Given the description of an element on the screen output the (x, y) to click on. 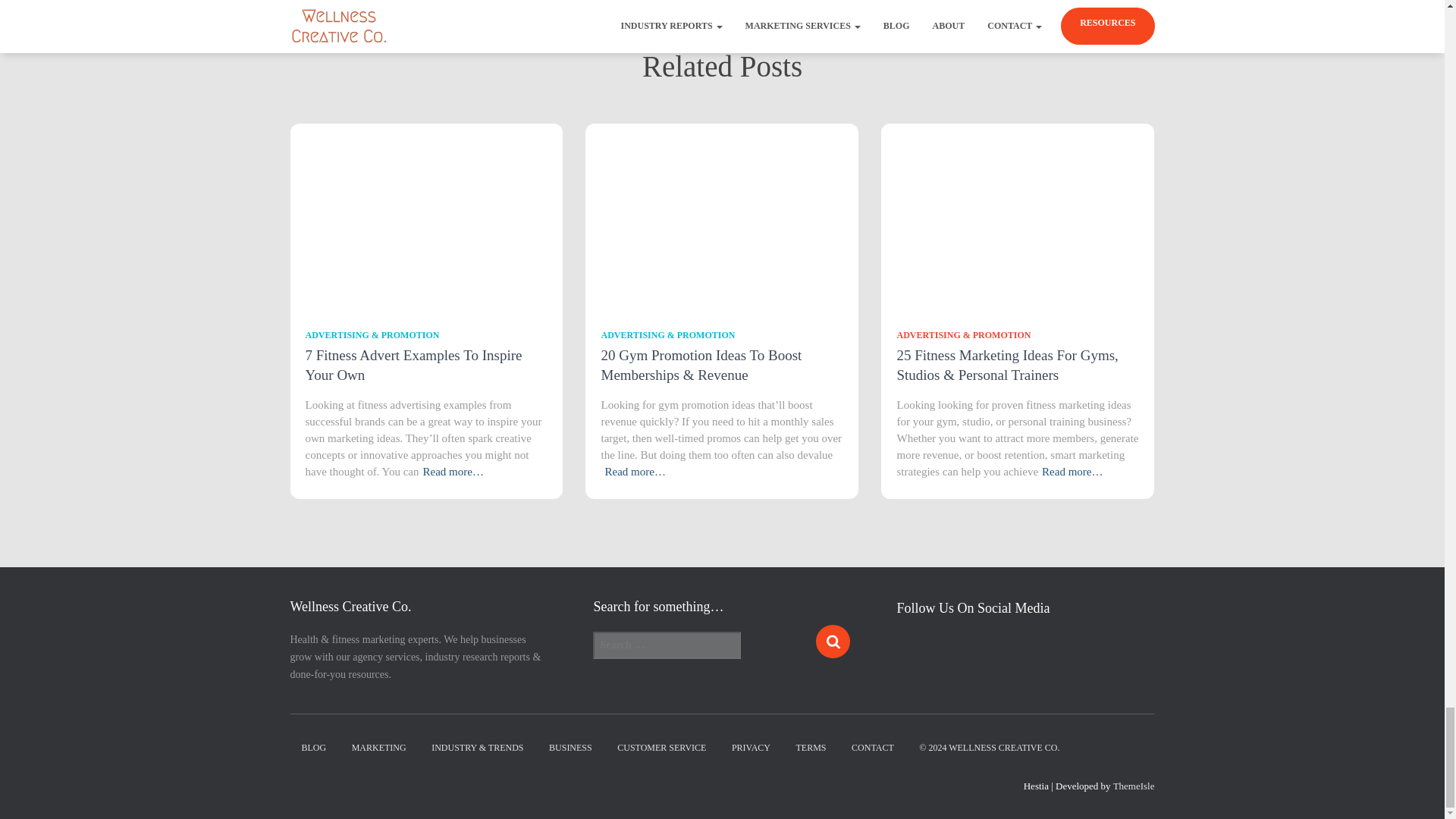
Search (832, 640)
Search (832, 640)
